Given the description of an element on the screen output the (x, y) to click on. 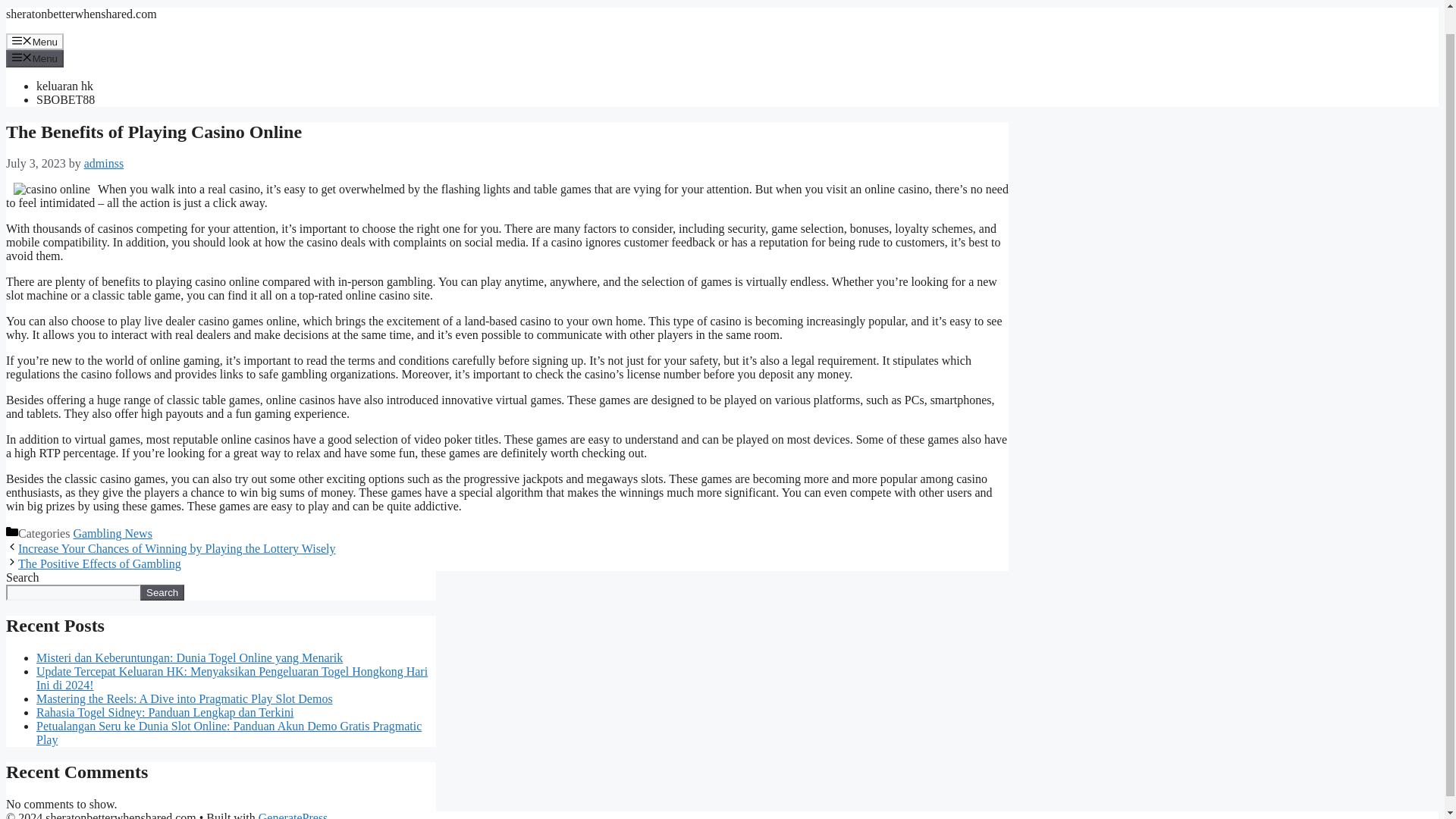
Menu (34, 41)
keluaran hk (64, 85)
Misteri dan Keberuntungan: Dunia Togel Online yang Menarik (189, 657)
Search (161, 592)
The Positive Effects of Gambling (98, 563)
sheratonbetterwhenshared.com (81, 13)
adminss (103, 163)
Menu (34, 57)
View all posts by adminss (103, 163)
SBOBET88 (65, 99)
Rahasia Togel Sidney: Panduan Lengkap dan Terkini (165, 712)
Gambling News (111, 533)
